Given the description of an element on the screen output the (x, y) to click on. 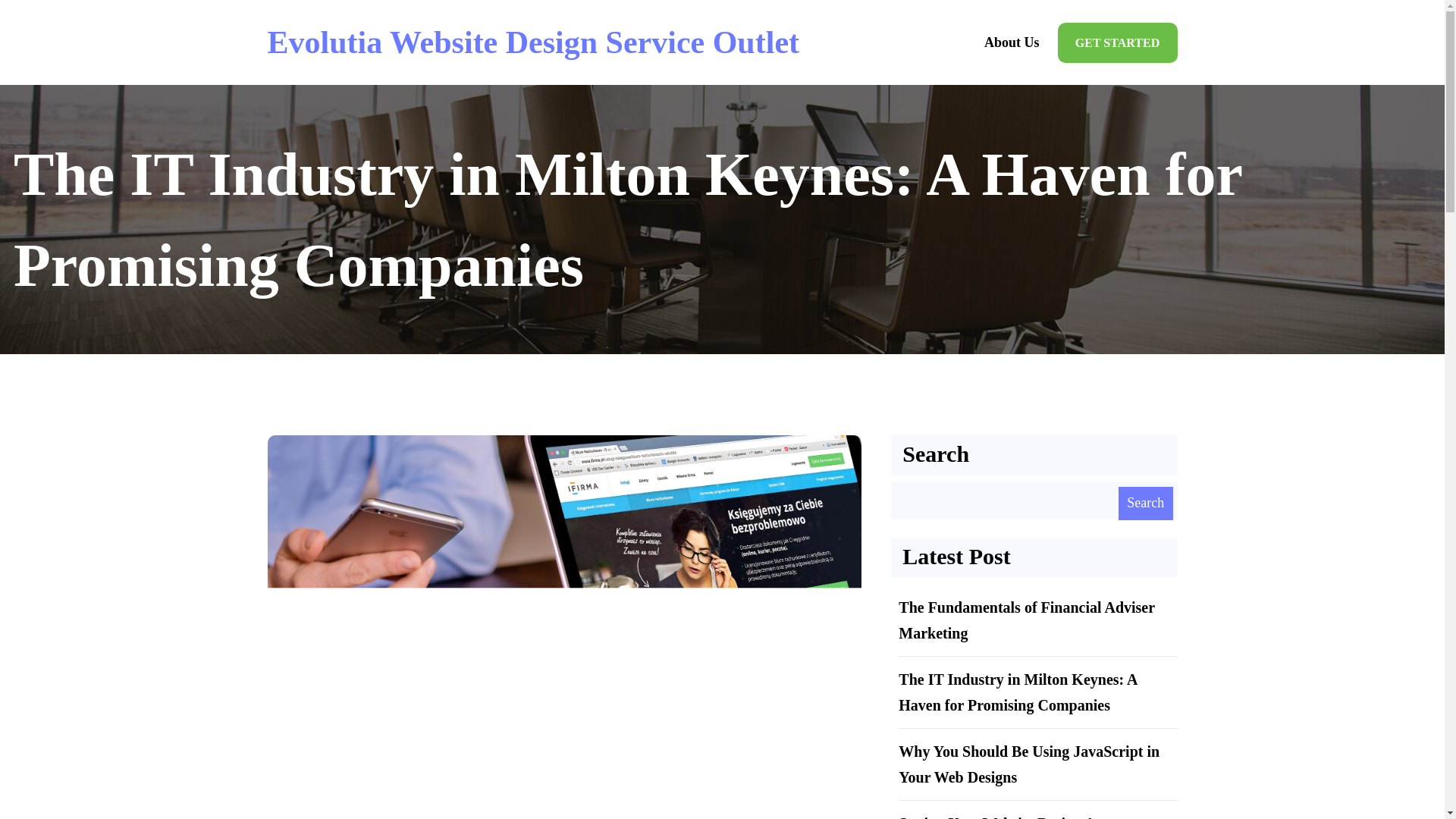
Evolutia Website Design Service Outlet (532, 42)
The Fundamentals of Financial Adviser Marketing (1026, 619)
GET STARTED (1117, 42)
Search (1145, 503)
About Us (1011, 42)
Setting Up a Website Design Agency (1015, 816)
Why You Should Be Using JavaScript in Your Web Designs (1028, 763)
